Given the description of an element on the screen output the (x, y) to click on. 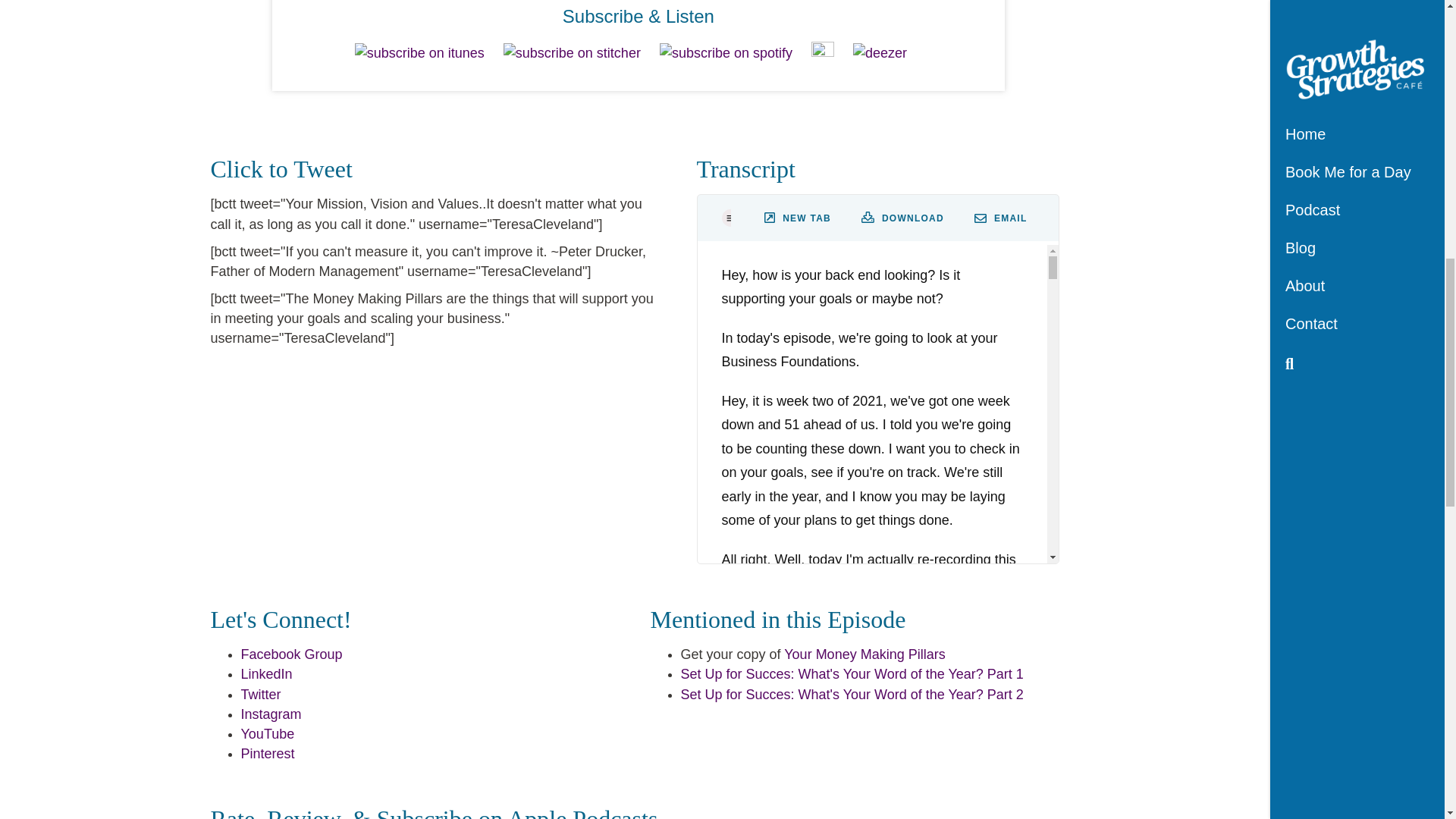
LinkedIn (266, 673)
Instagram (271, 713)
Set Up for Succes: What's Your Word of the Year? Part 1 (852, 673)
Facebook Group (291, 654)
DOWNLOAD (902, 218)
YouTube (268, 734)
Set Up for Succes: What's Your Word of the Year? Part 2 (852, 694)
NEW TAB (797, 217)
Twitter (261, 694)
Your Money Making Pillars (864, 654)
